Given the description of an element on the screen output the (x, y) to click on. 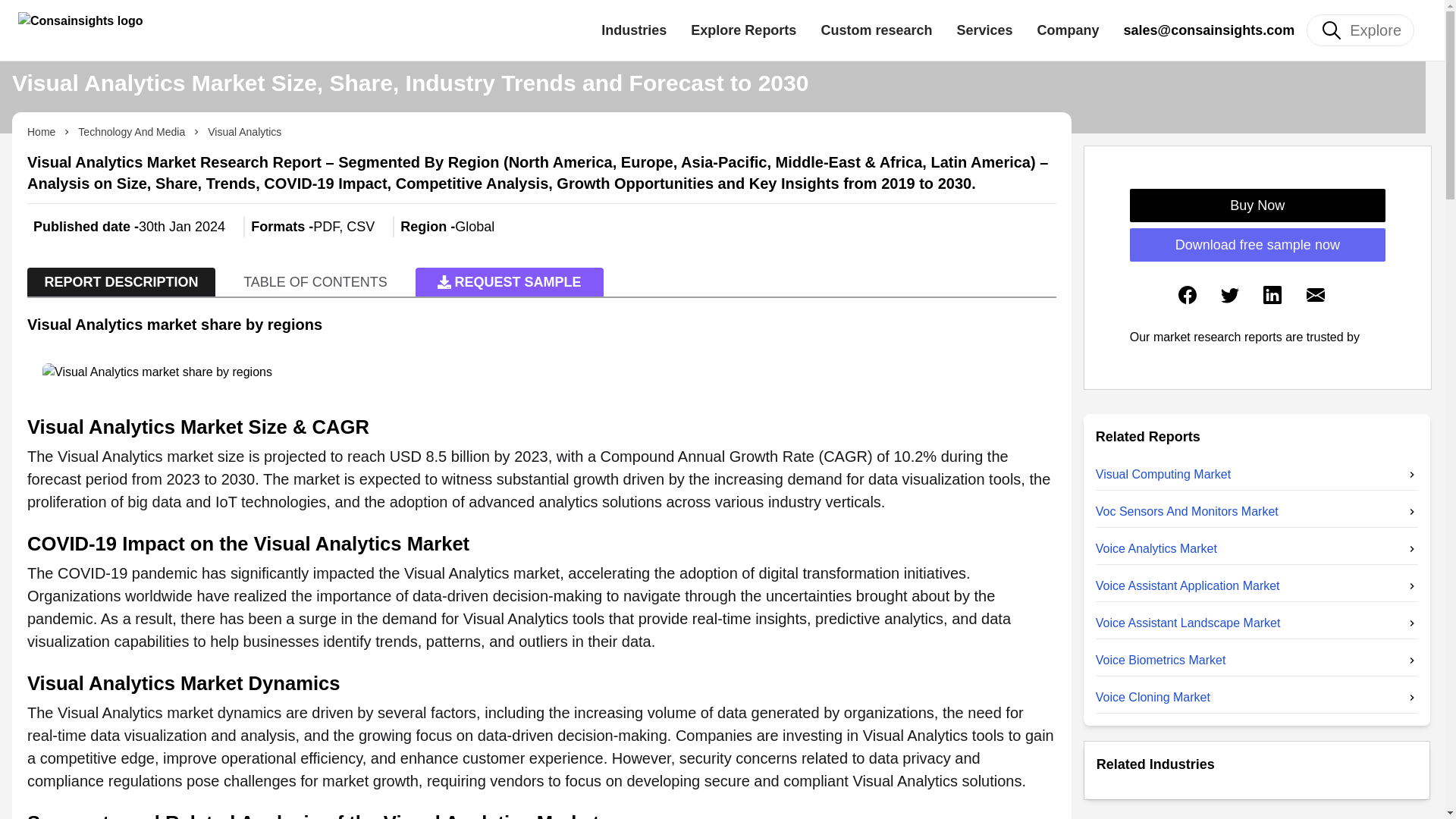
Industries (633, 29)
Explore (1359, 29)
Company (1067, 29)
Consainsights (309, 30)
Services (983, 29)
Explore Reports (743, 29)
Custom research (876, 29)
